Given the description of an element on the screen output the (x, y) to click on. 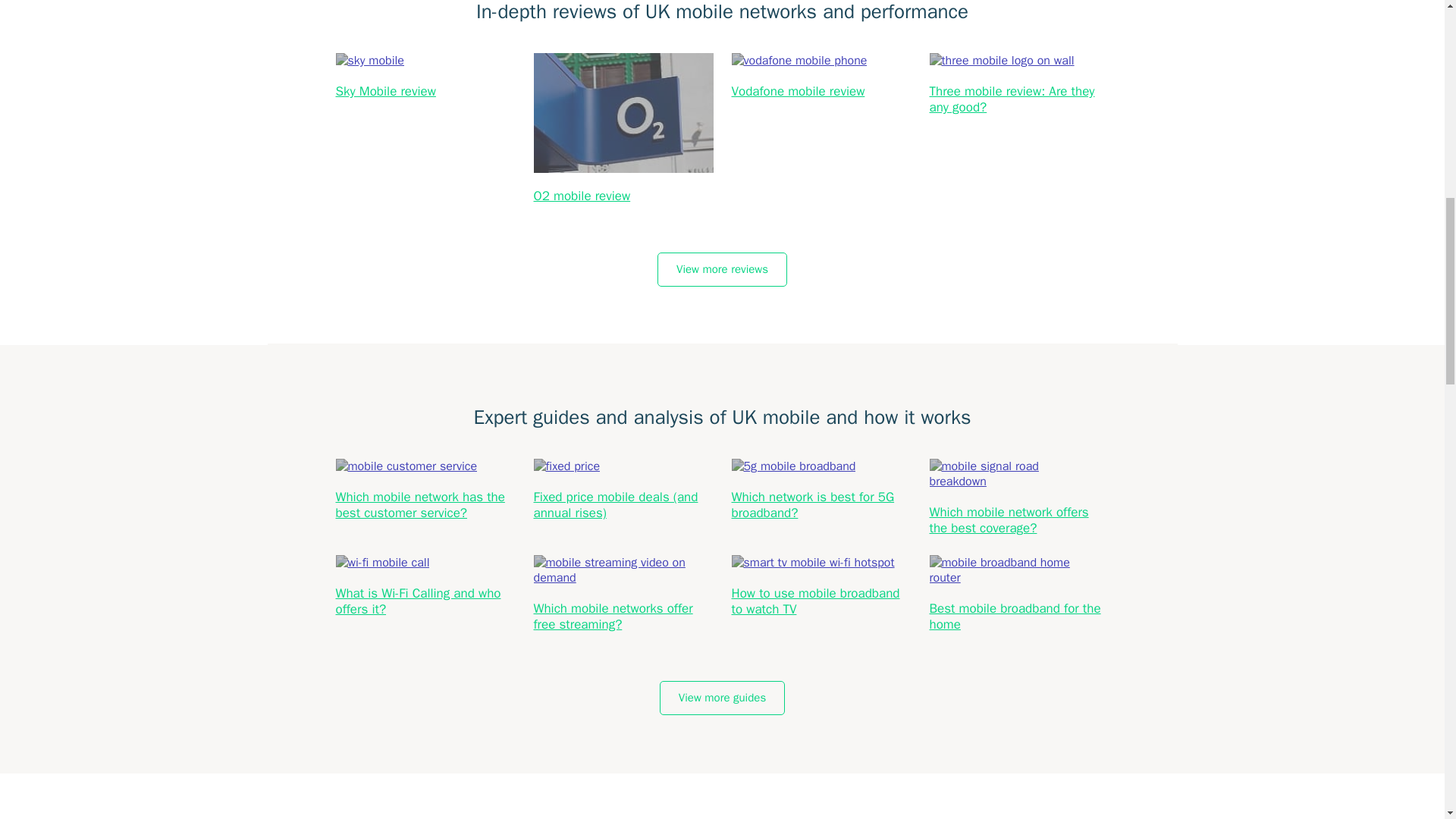
Sky Mobile review (384, 91)
O2 mobile review (582, 195)
